Given the description of an element on the screen output the (x, y) to click on. 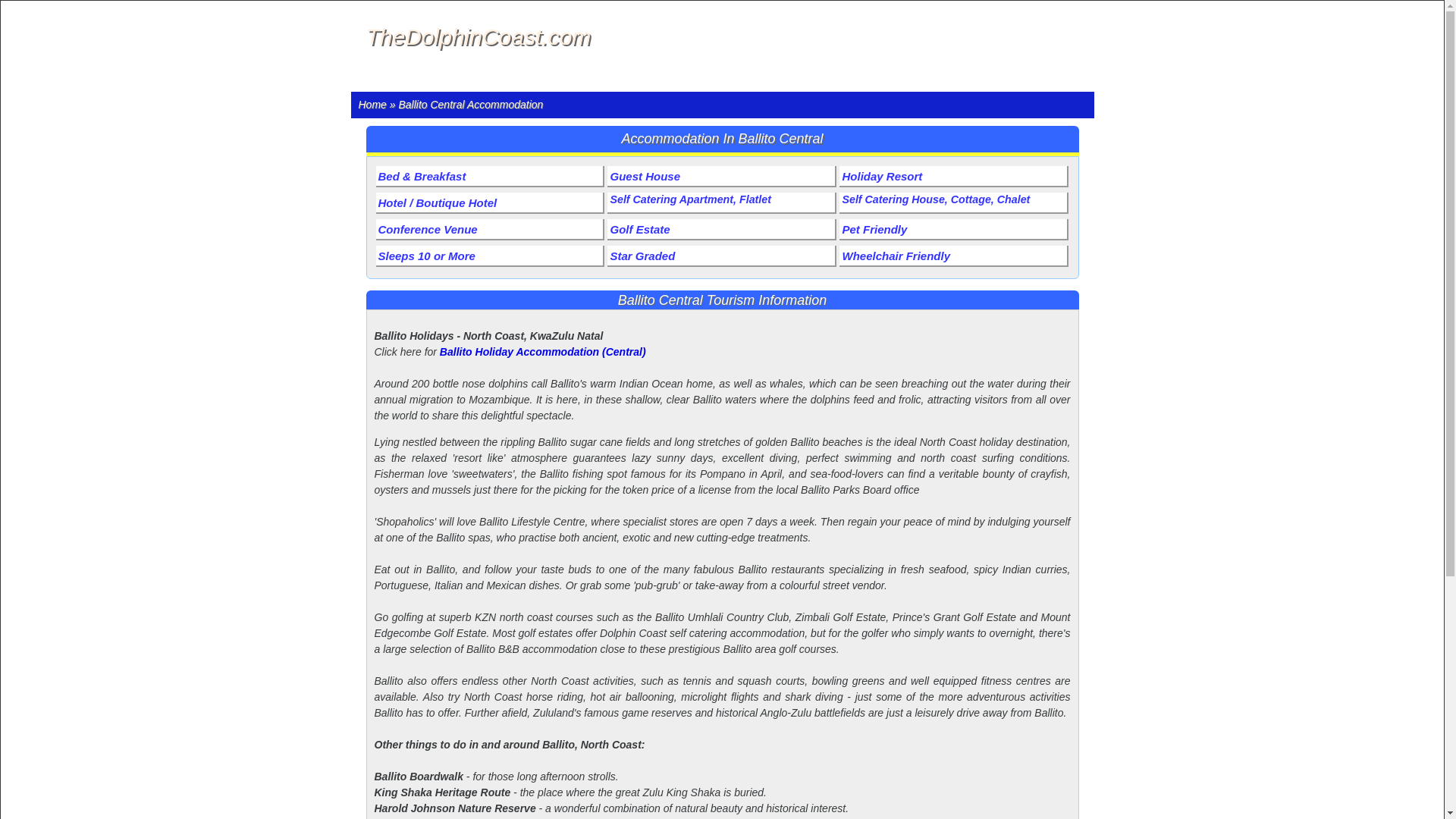
Conference Venue (490, 229)
Golf Estate (721, 229)
Self Catering House, Cottage, Chalet (954, 202)
Self Catering Apartment, Flatlet (721, 202)
Home (371, 104)
Star Graded (721, 255)
Sleeps 10 or More (490, 255)
Holiday Resort (954, 176)
Guest House (721, 176)
Pet Friendly (954, 229)
Wheelchair Friendly (954, 255)
